Given the description of an element on the screen output the (x, y) to click on. 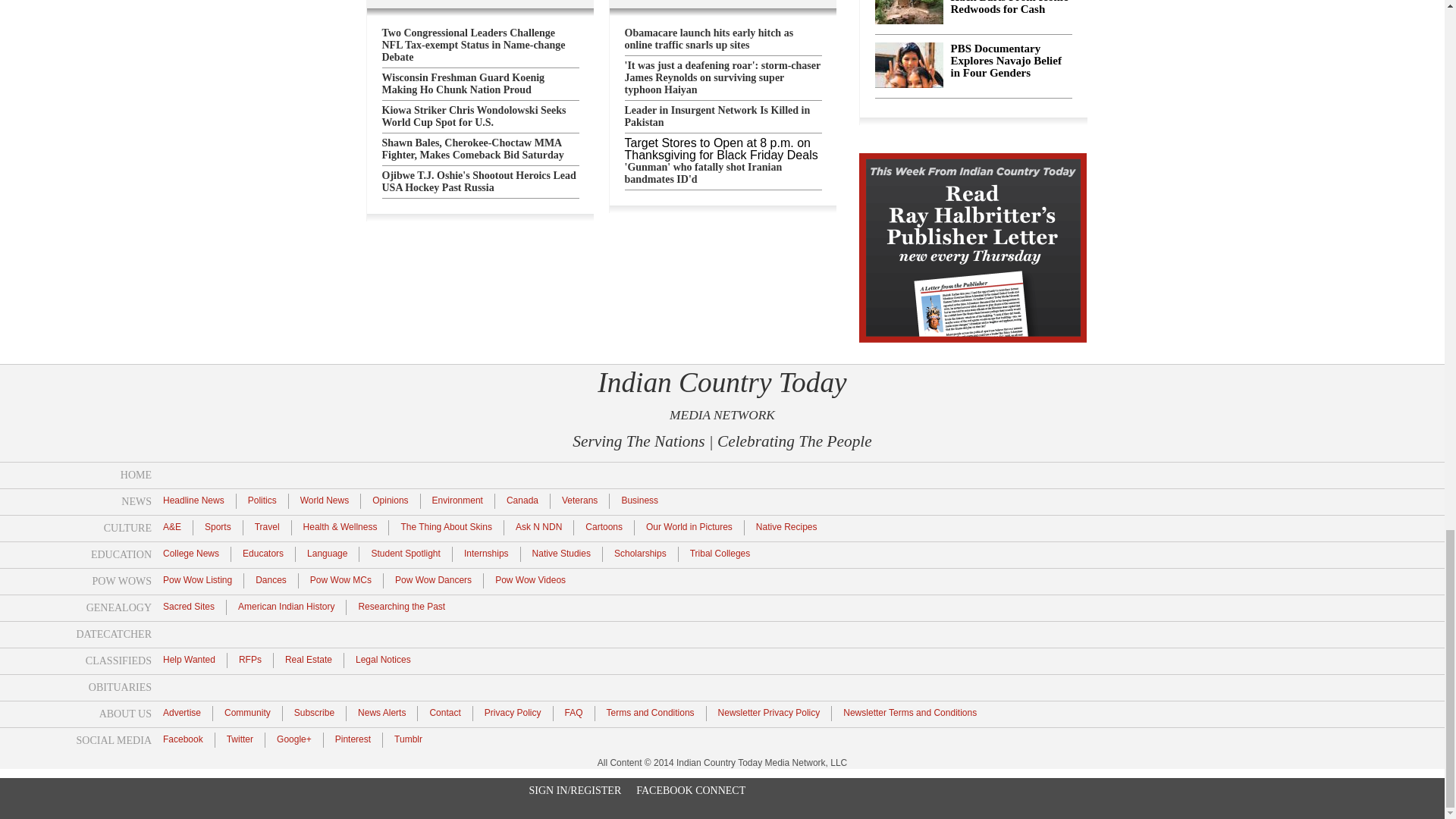
Privacy Policy (512, 712)
Terms and Conditions (650, 712)
